Given the description of an element on the screen output the (x, y) to click on. 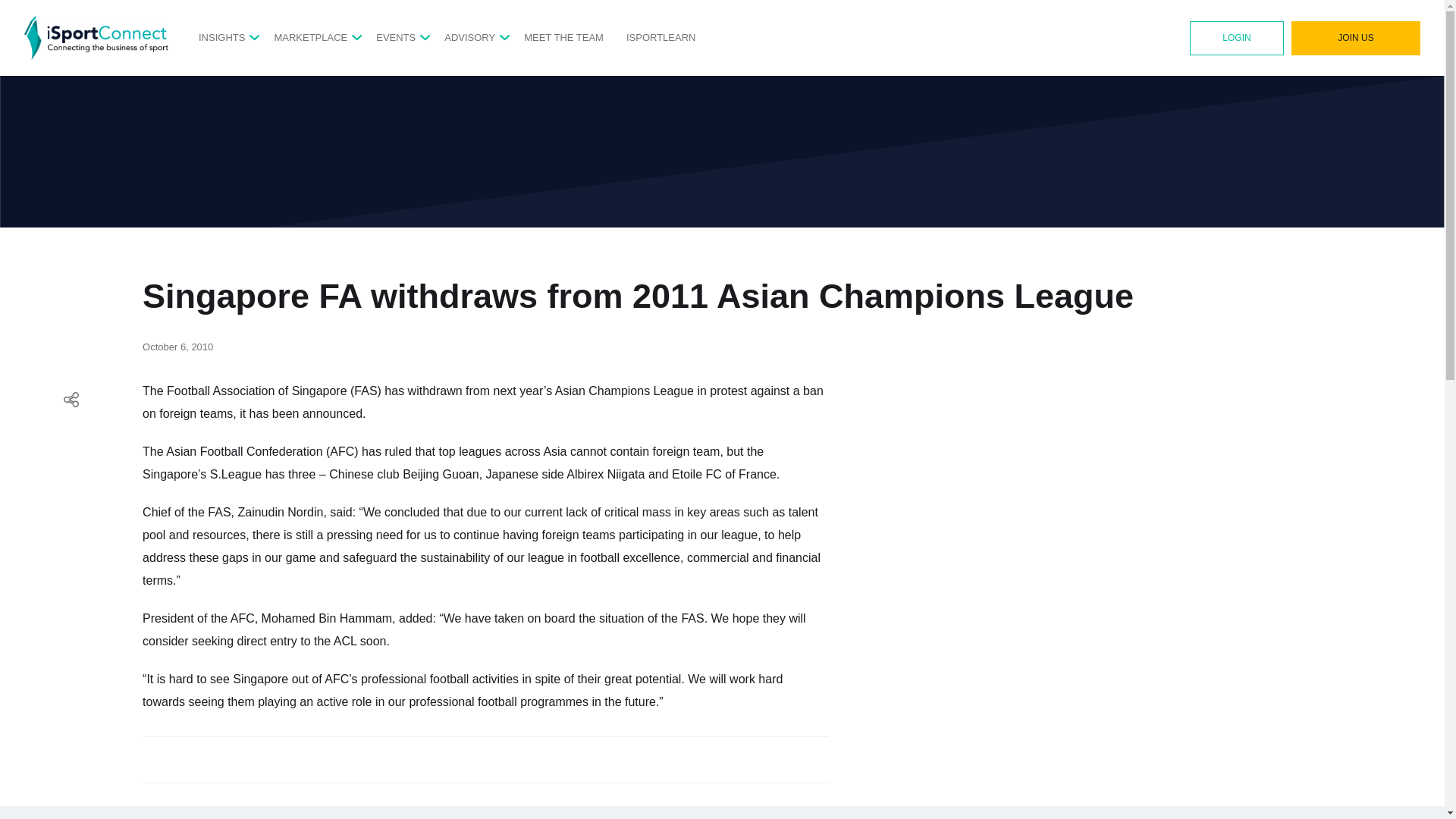
EVENTS (394, 37)
LOGIN (1236, 38)
ADVISORY (469, 37)
JOIN US (1356, 38)
INSIGHTS (221, 37)
MARKETPLACE (310, 37)
MEET THE TEAM (564, 37)
ISPORTLEARN (660, 37)
